Given the description of an element on the screen output the (x, y) to click on. 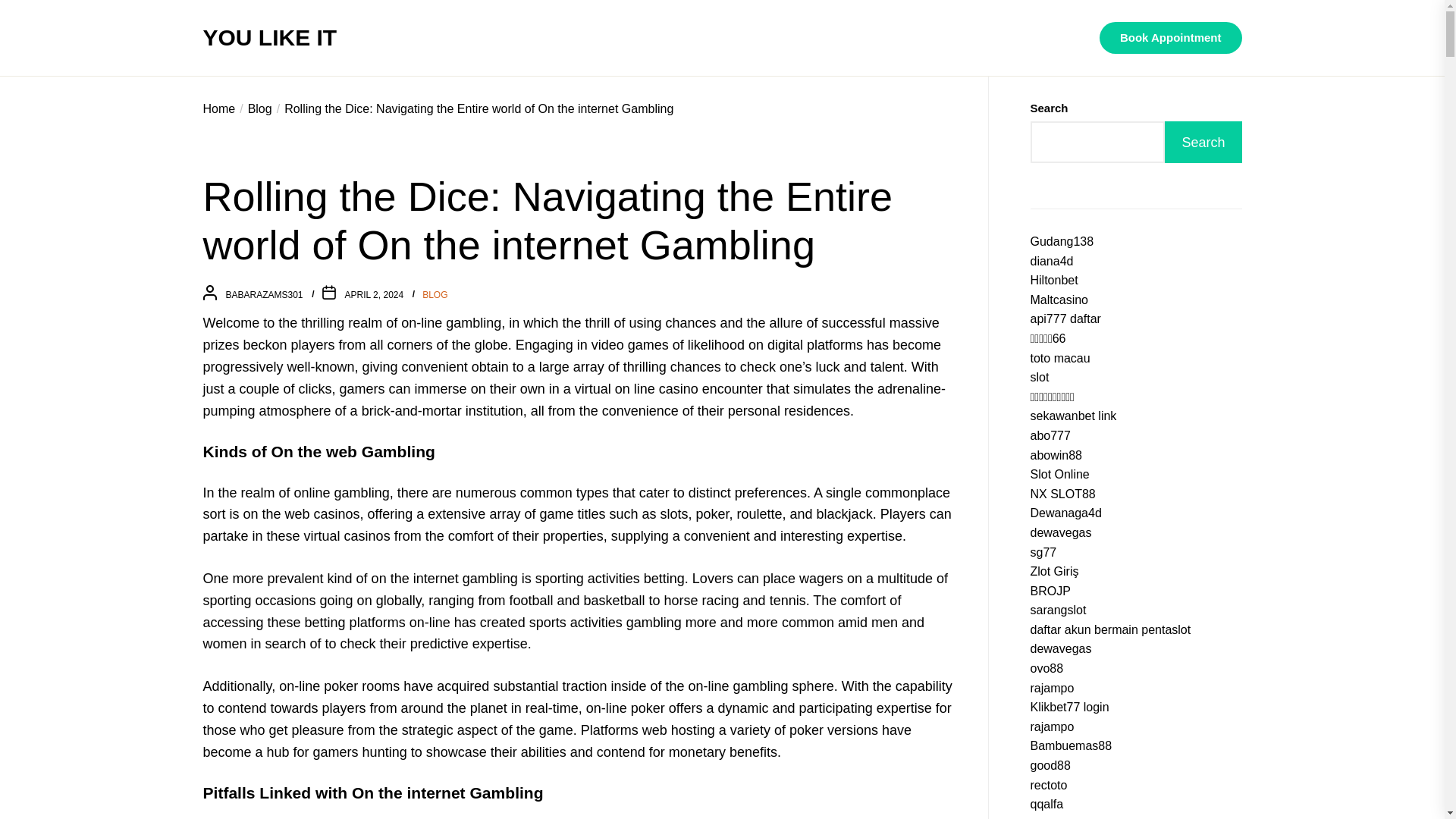
toto macau (1059, 358)
rajampo (1051, 687)
sarangslot (1057, 609)
Blog (252, 108)
dewavegas (1059, 648)
abo777 (1049, 435)
Home (219, 108)
Book Appointment (1170, 38)
ovo88 (1045, 667)
Klikbet77 login (1068, 707)
daftar akun bermain pentaslot (1110, 629)
diana4d (1051, 260)
Maltcasino (1058, 299)
Search (1202, 141)
